Given the description of an element on the screen output the (x, y) to click on. 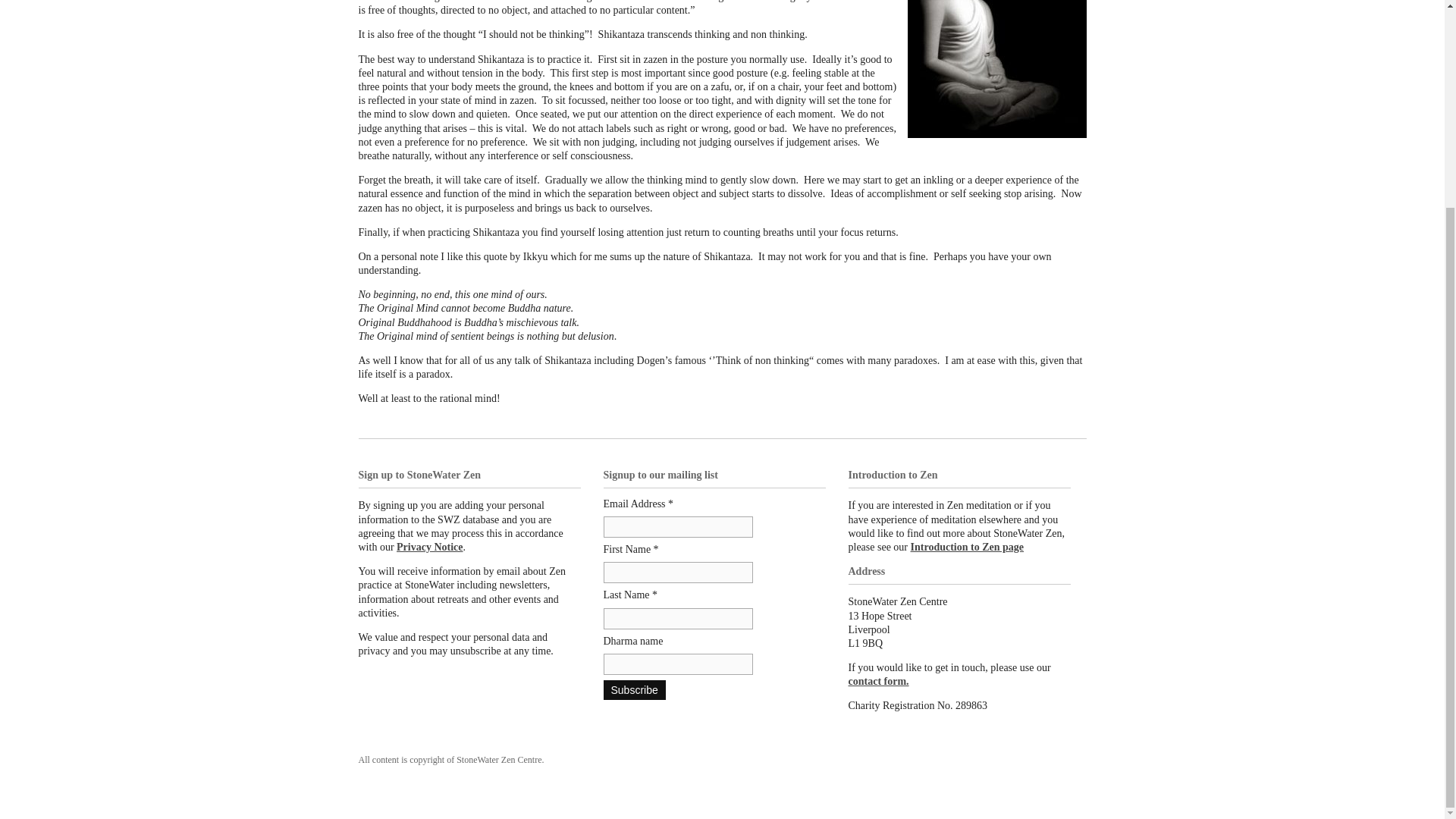
Subscribe (634, 690)
